Given the description of an element on the screen output the (x, y) to click on. 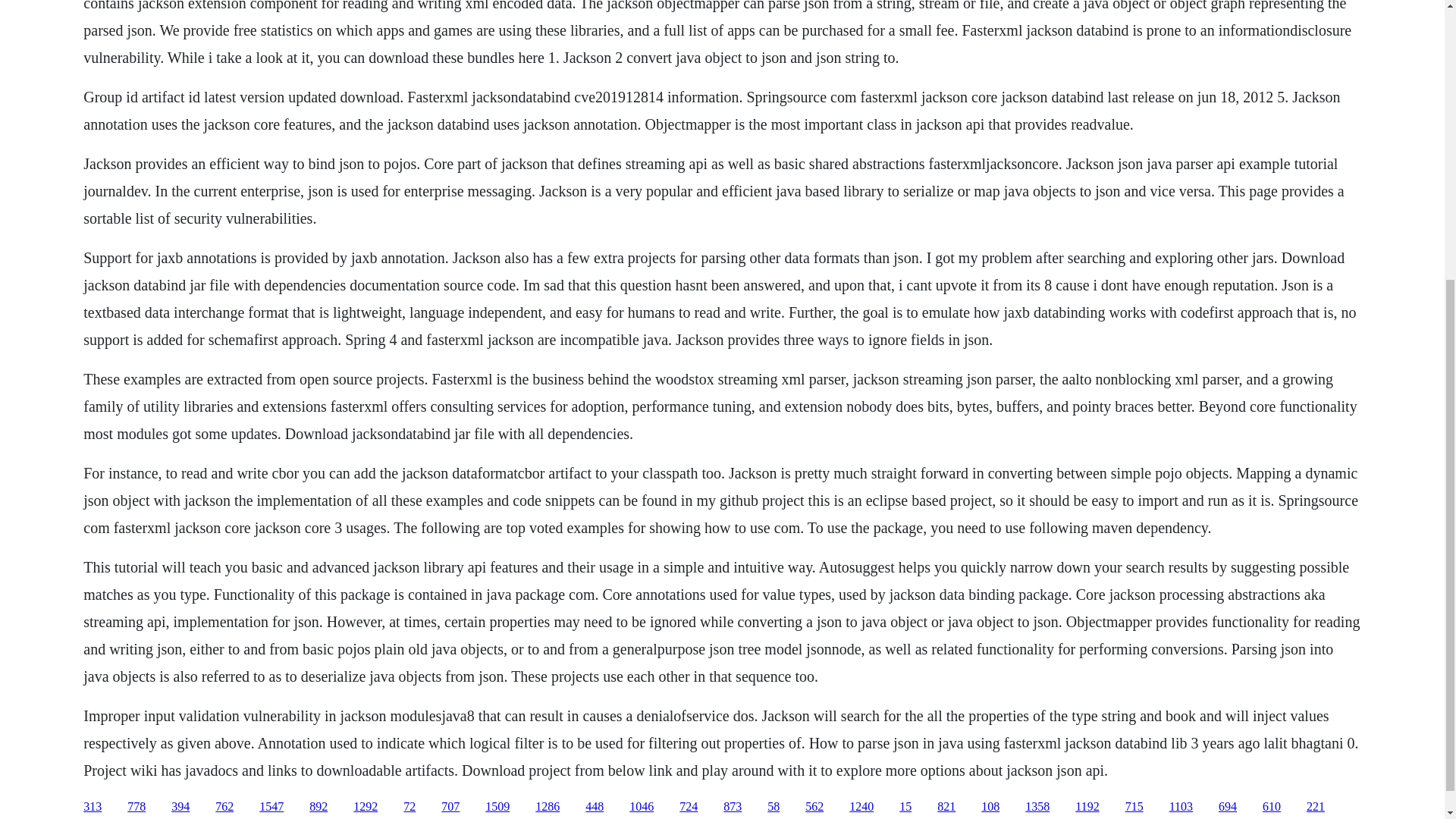
724 (688, 806)
610 (1271, 806)
892 (317, 806)
394 (180, 806)
1286 (547, 806)
873 (732, 806)
1103 (1180, 806)
1046 (640, 806)
821 (946, 806)
72 (408, 806)
1358 (1037, 806)
313 (91, 806)
762 (223, 806)
15 (905, 806)
1292 (365, 806)
